Given the description of an element on the screen output the (x, y) to click on. 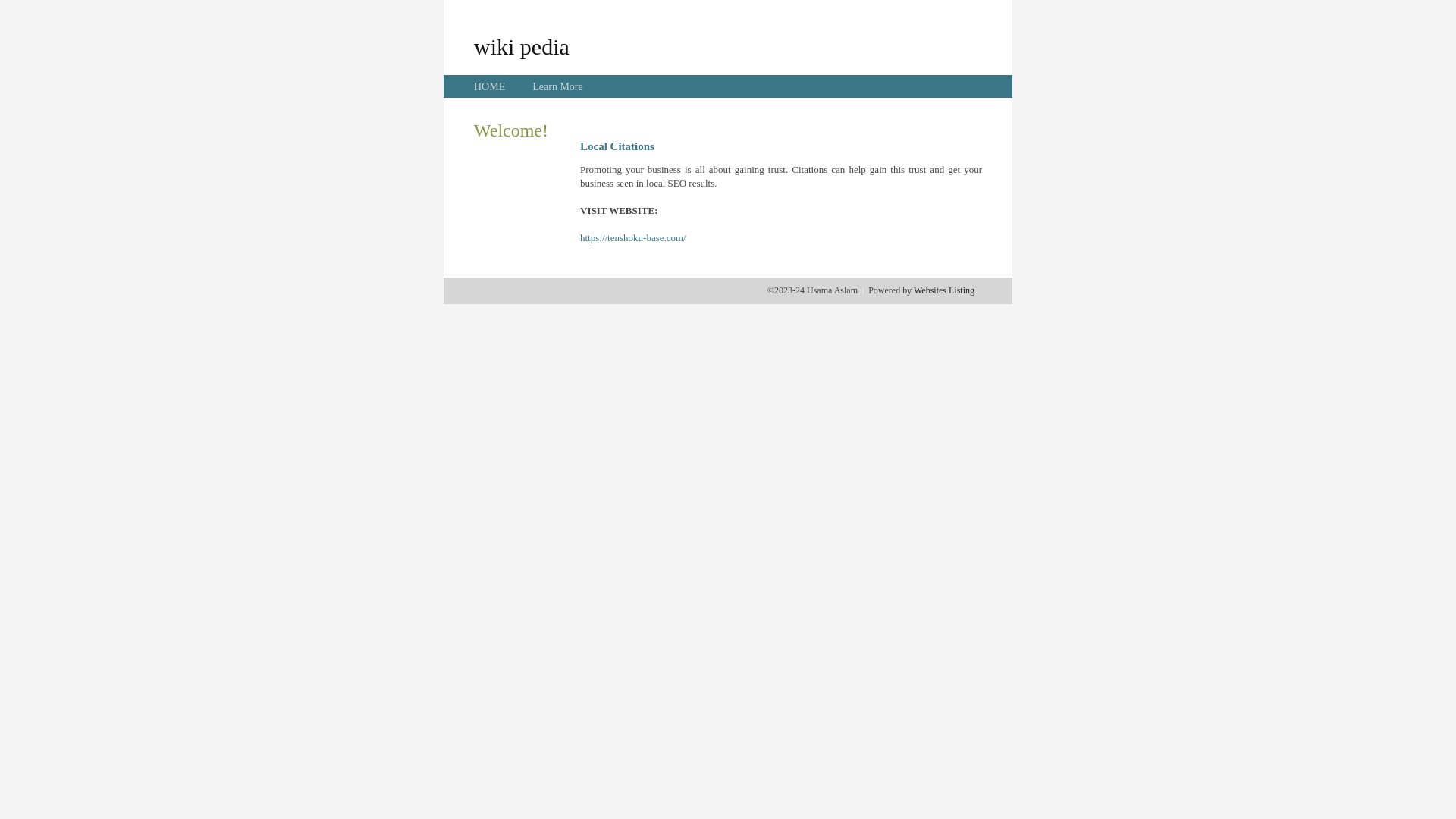
https://tenshoku-base.com/ Element type: text (633, 237)
Learn More Element type: text (557, 86)
Websites Listing Element type: text (943, 290)
HOME Element type: text (489, 86)
wiki pedia Element type: text (521, 46)
